Given the description of an element on the screen output the (x, y) to click on. 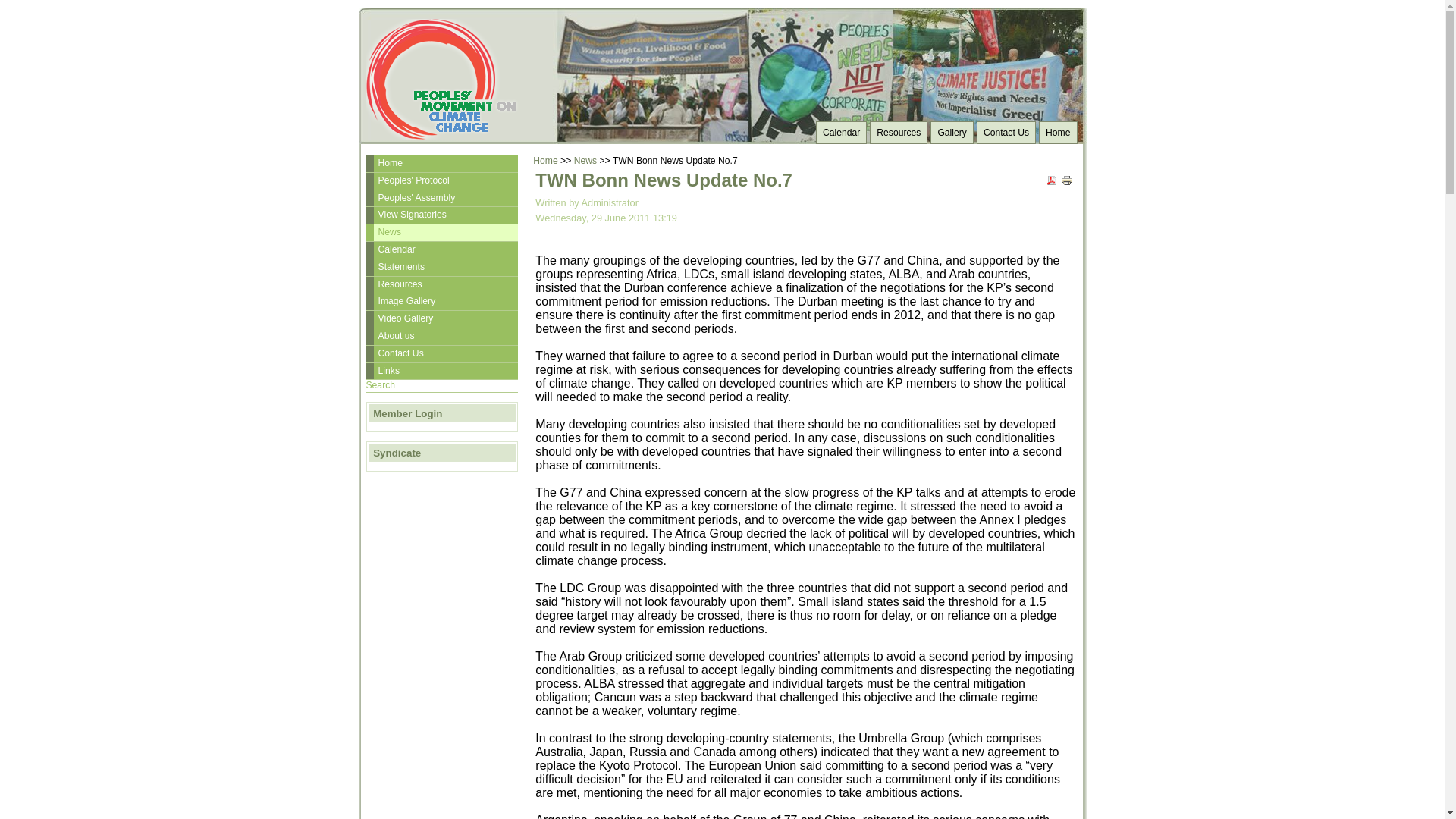
News (441, 232)
Calendar (840, 132)
Peoples' Protocol (441, 180)
Video Gallery (441, 319)
Statements (441, 267)
Gallery (952, 132)
Home (441, 163)
About us (441, 336)
Home (544, 160)
Contact Us (441, 353)
Resources (898, 132)
Resources (441, 284)
Image Gallery (441, 301)
Contact Us (1005, 132)
Peoples' Assembly (441, 198)
